Given the description of an element on the screen output the (x, y) to click on. 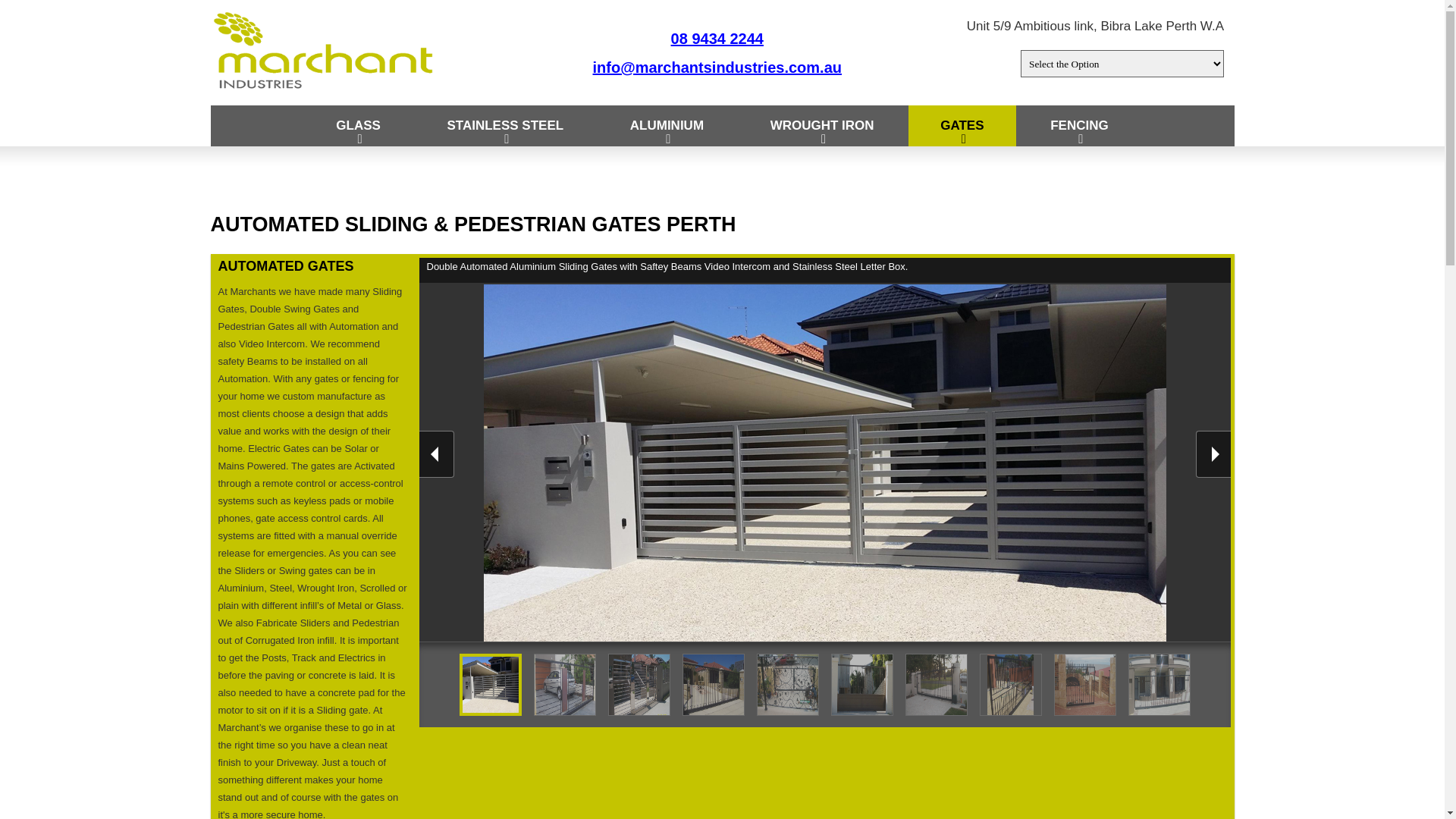
GLASS Element type: text (358, 125)
info@marchantsindustries.com.au Element type: text (717, 67)
ALUMINIUM Element type: text (666, 125)
08 9434 2244 Element type: text (717, 38)
GATES Element type: text (961, 125)
WROUGHT IRON Element type: text (822, 125)
Sliding Gate with spears and Laser Cut Name out of Core Ten. Element type: hover (1085, 684)
FENCING Element type: text (1079, 125)
STAINLESS STEEL Element type: text (505, 125)
